Given the description of an element on the screen output the (x, y) to click on. 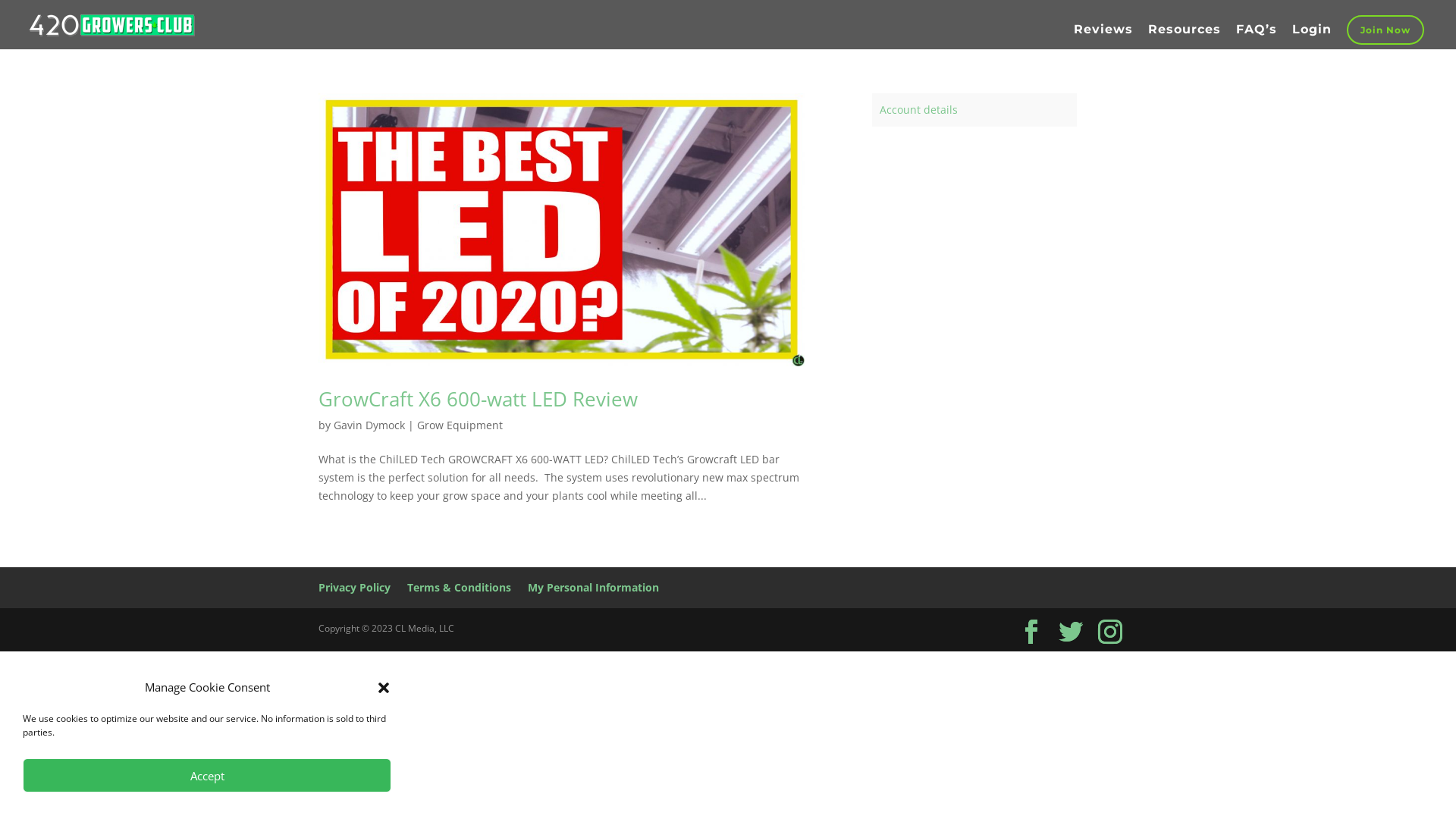
Login Element type: text (1311, 36)
Reviews Element type: text (1102, 36)
Account details Element type: text (918, 109)
GrowCraft X6 600-watt LED Review Element type: text (477, 398)
Privacy Policy Element type: text (354, 587)
Terms & Conditions Element type: text (459, 587)
Grow Equipment Element type: text (459, 424)
Join Now Element type: text (1385, 29)
Accept Element type: text (206, 775)
My Personal Information Element type: text (592, 587)
Gavin Dymock Element type: text (368, 424)
Resources Element type: text (1184, 36)
